Given the description of an element on the screen output the (x, y) to click on. 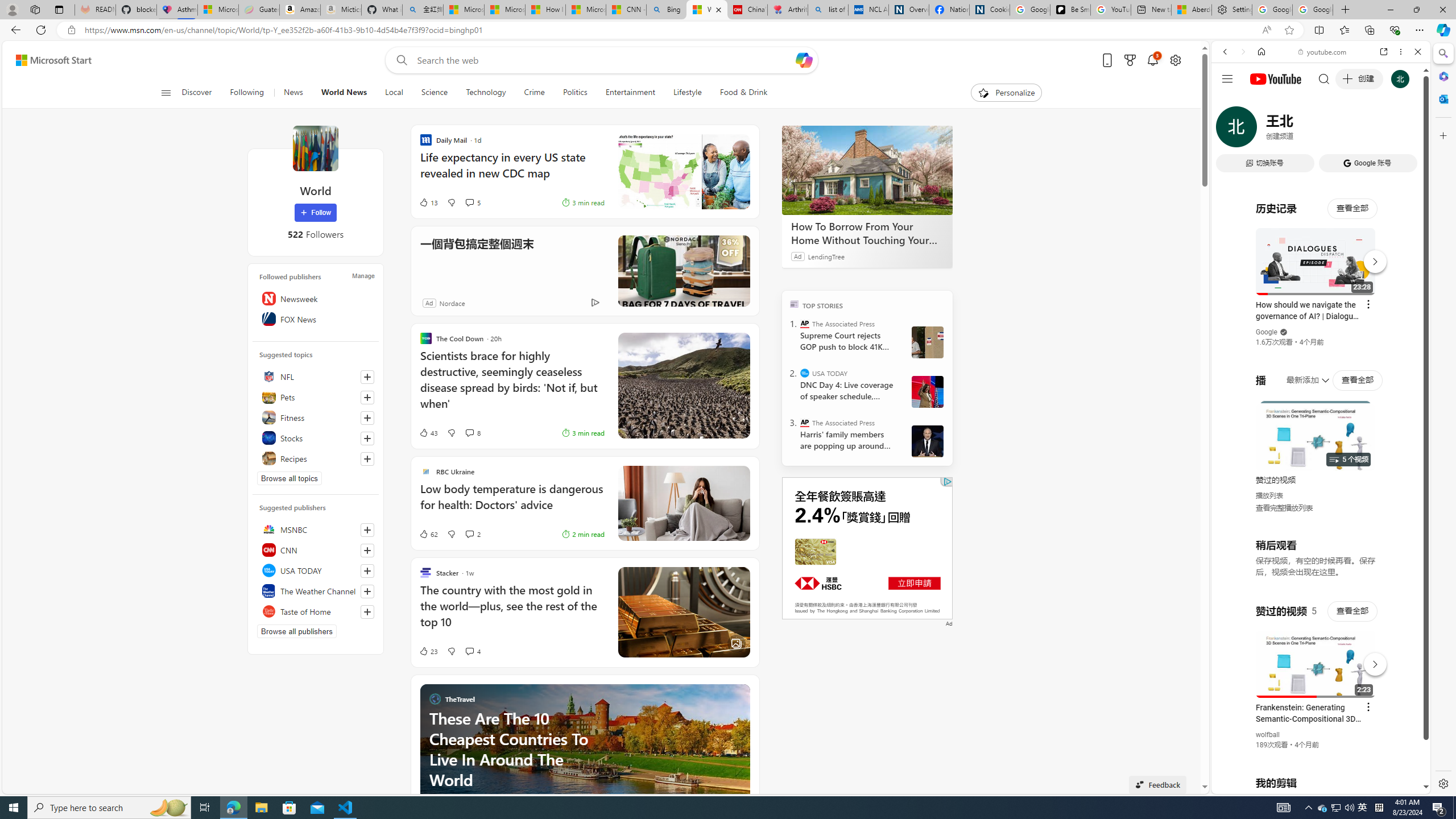
Open link in new tab (1383, 51)
View comments 2 Comment (472, 533)
Pets (315, 397)
Asthma Inhalers: Names and Types (176, 9)
youtube.com (1322, 51)
WEB   (1230, 130)
